Given the description of an element on the screen output the (x, y) to click on. 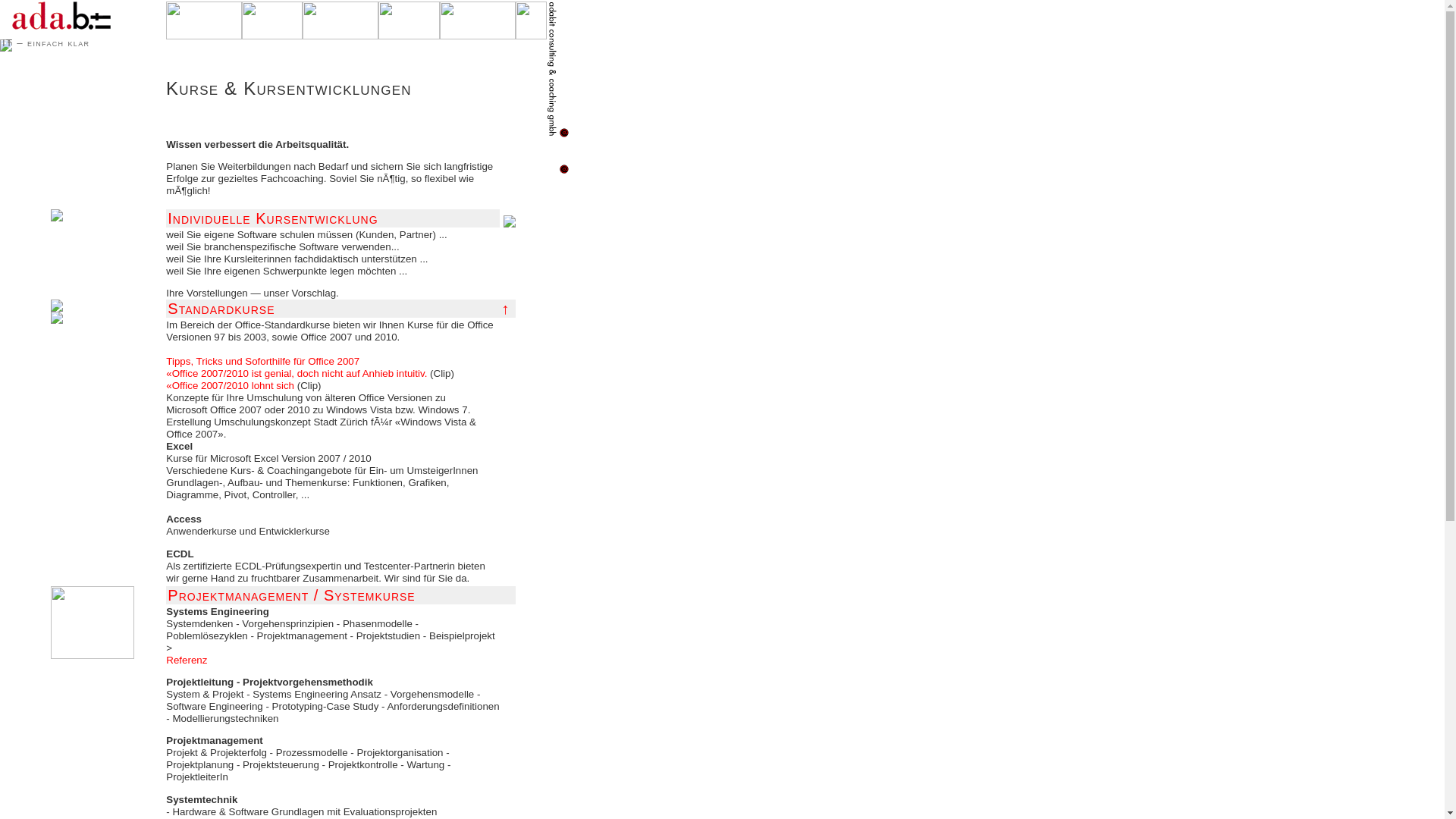
Referenz Element type: text (186, 659)
